Given the description of an element on the screen output the (x, y) to click on. 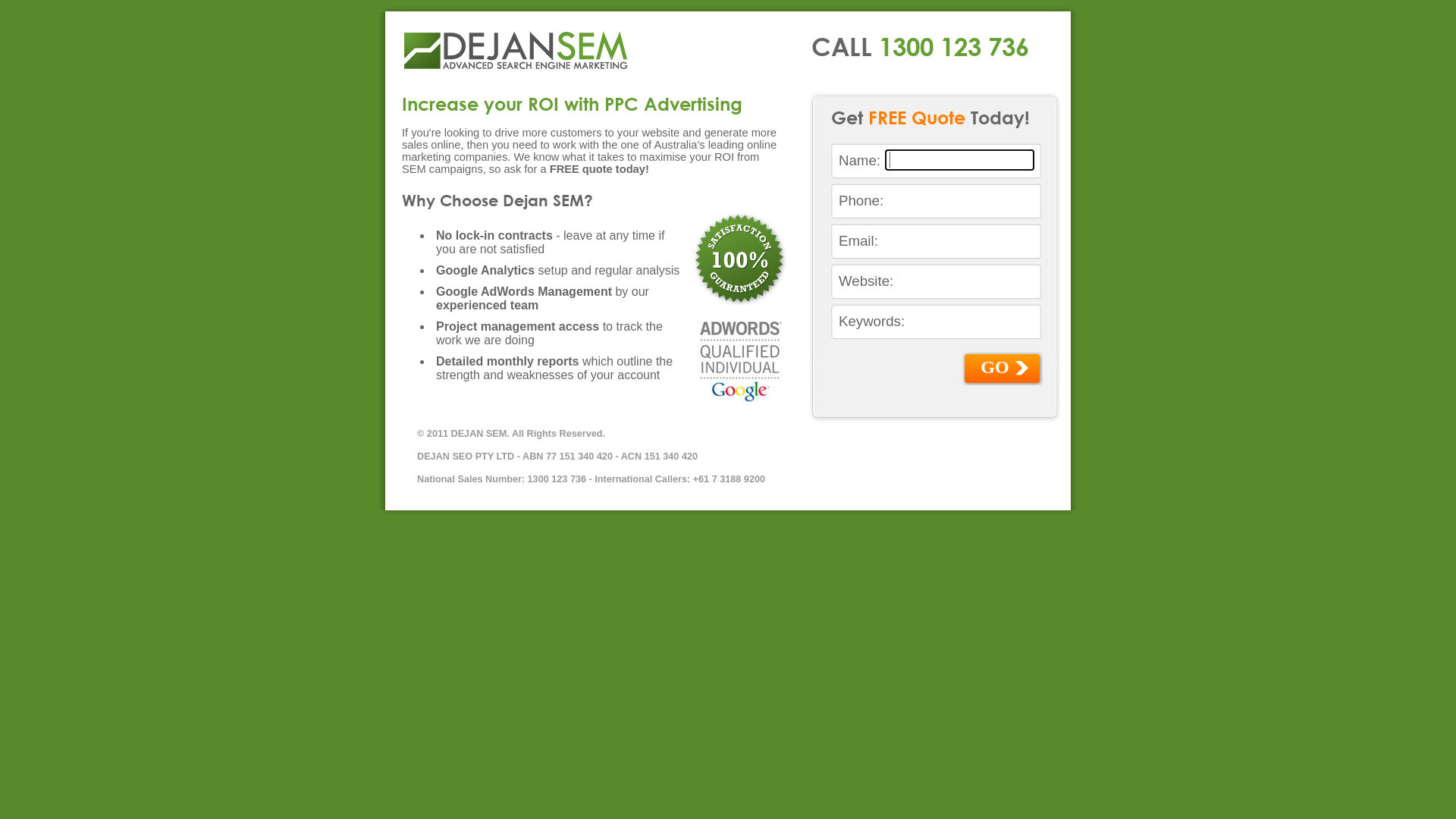
GO Element type: text (1002, 368)
DEJAN SEM Element type: hover (515, 50)
